Given the description of an element on the screen output the (x, y) to click on. 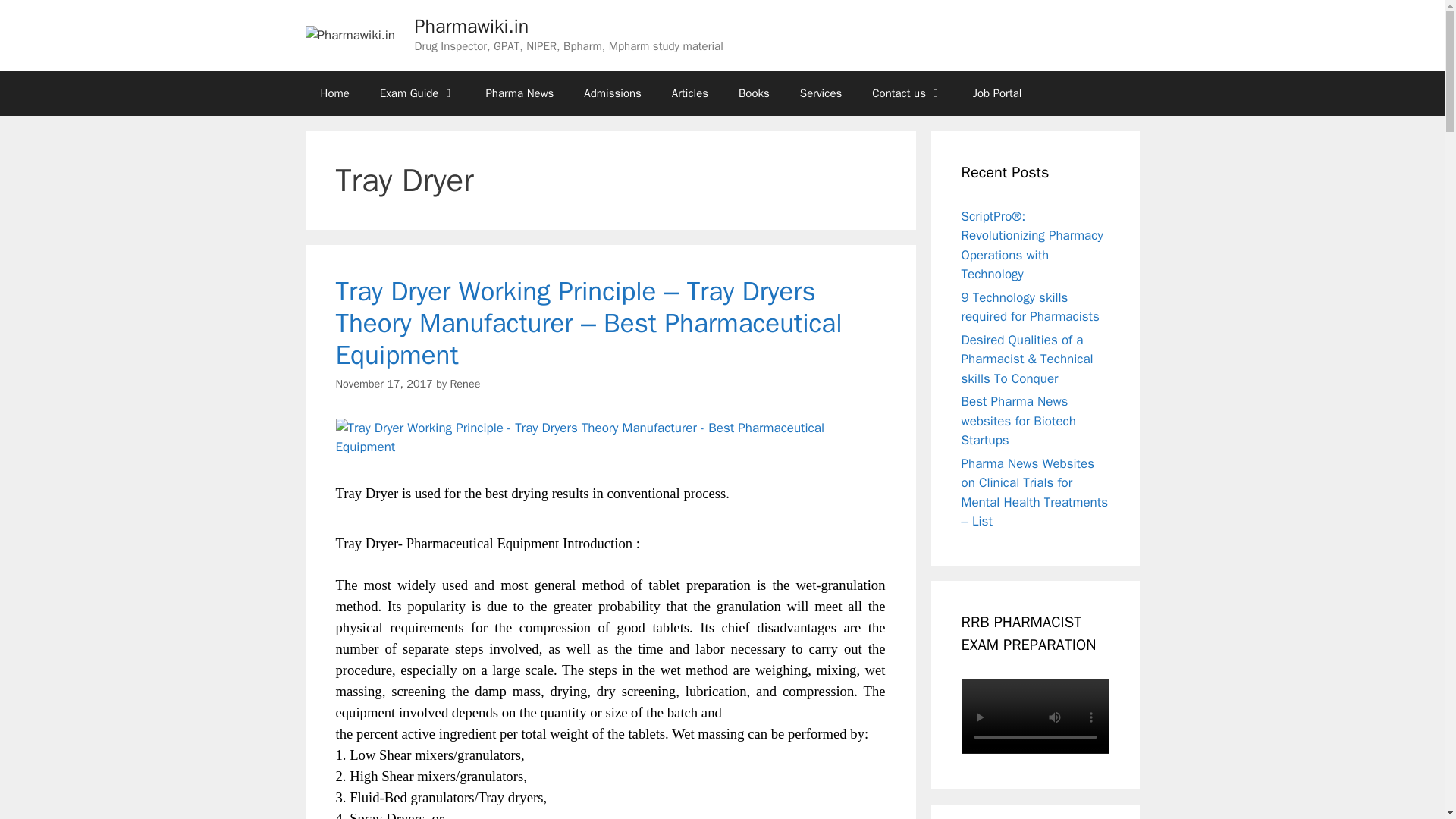
pharmawiki Job Portal (997, 92)
Articles (689, 92)
Contact us (907, 92)
Renee (464, 383)
Job Portal (997, 92)
Pharmawiki.in (471, 25)
Home (334, 92)
Books (753, 92)
Exam Guide (417, 92)
View all posts by Renee (464, 383)
